Given the description of an element on the screen output the (x, y) to click on. 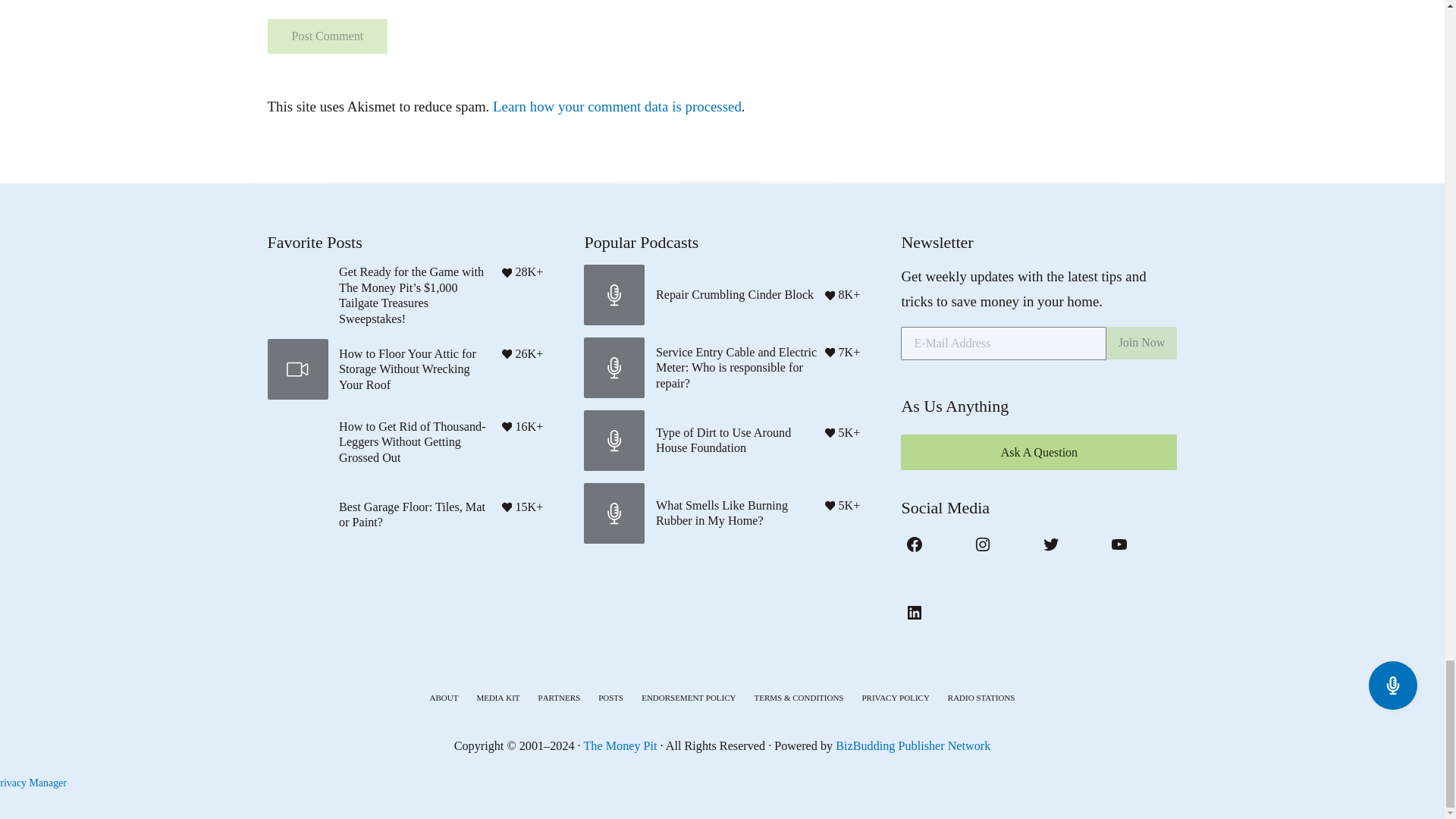
Join Now (1141, 342)
Post Comment (326, 36)
